Given the description of an element on the screen output the (x, y) to click on. 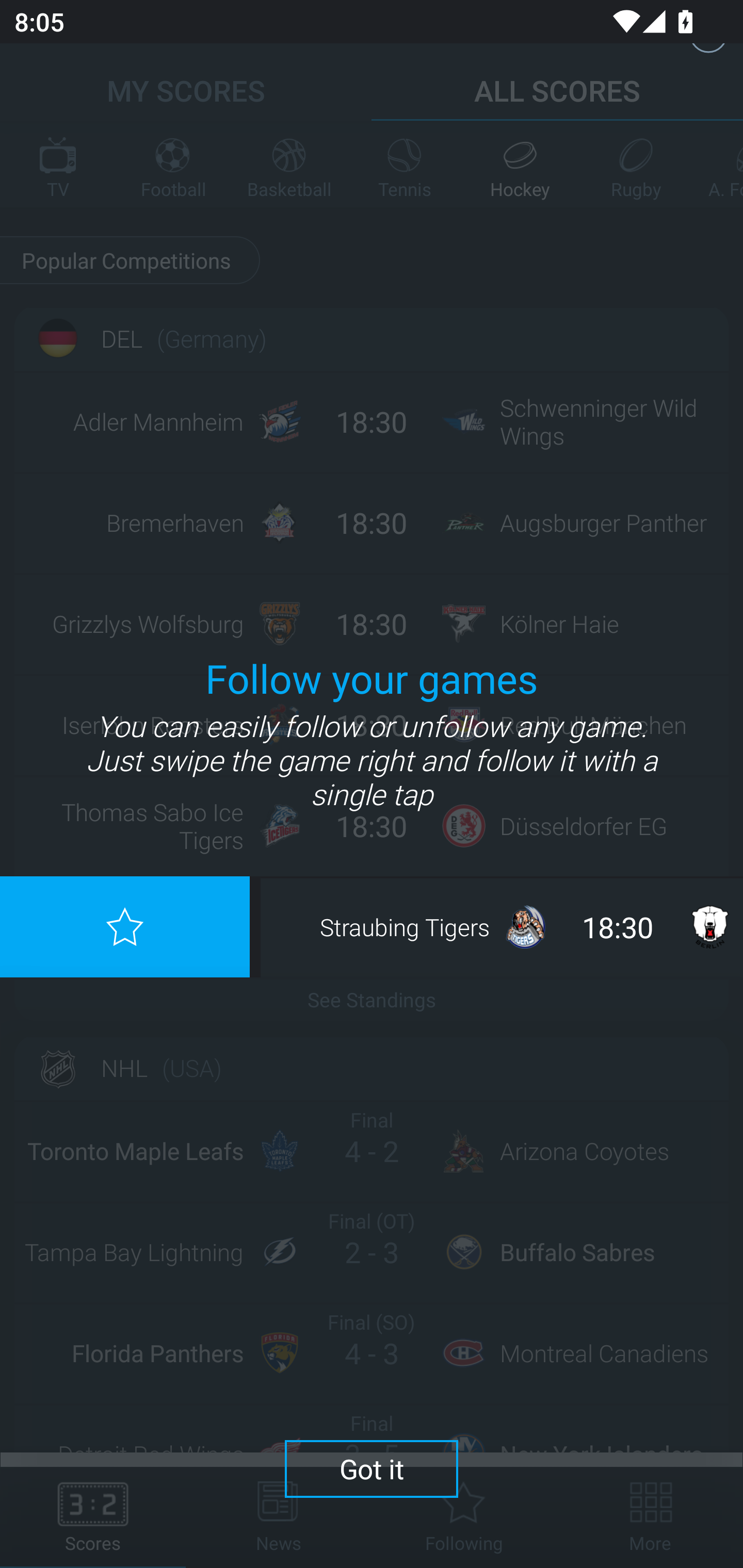
Straubing Tigers 18:30 Eisbären Berlin (502, 926)
Got it (371, 1468)
